Given the description of an element on the screen output the (x, y) to click on. 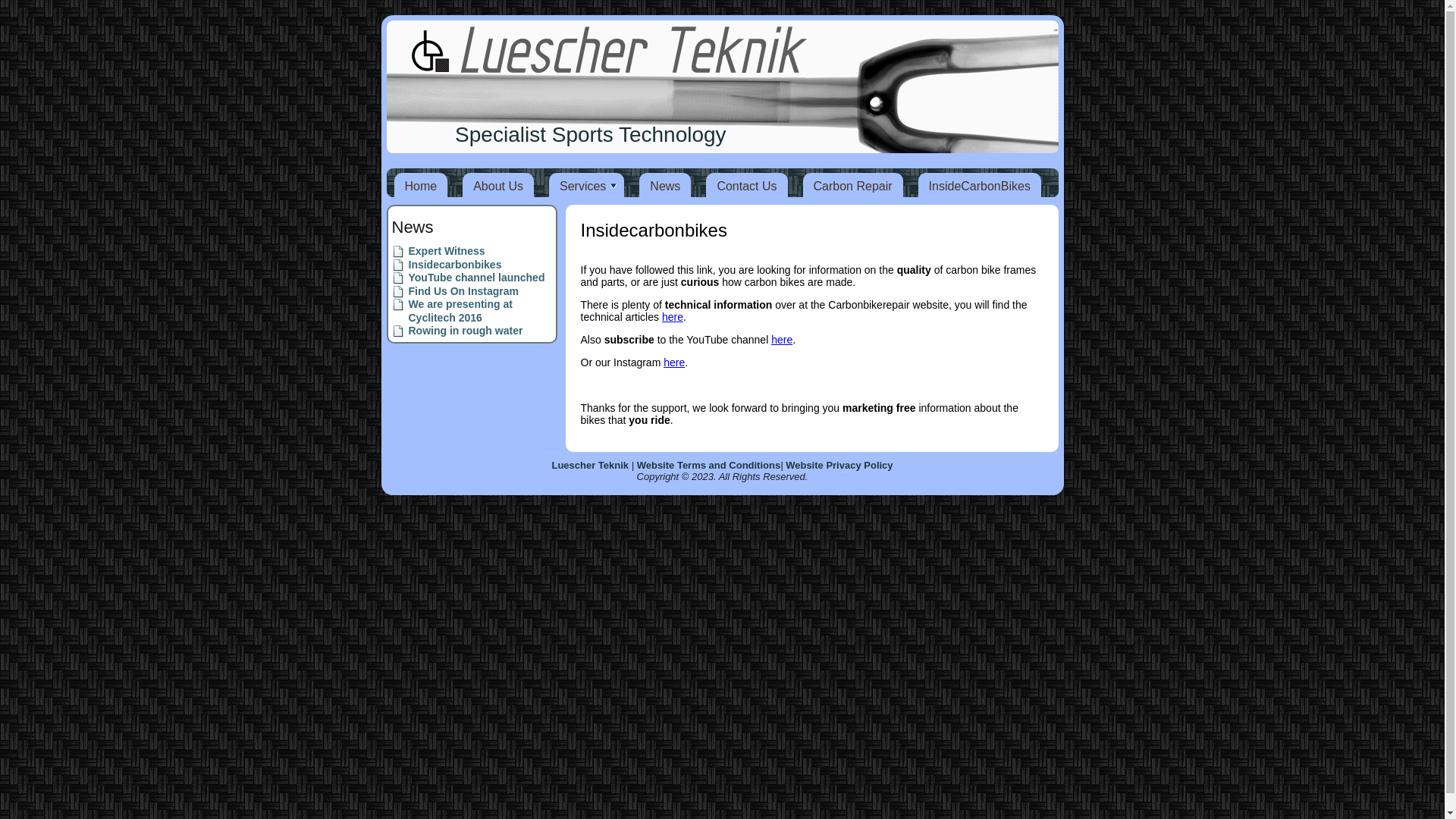
We are presenting at Cyclitech 2016 Element type: text (459, 310)
here Element type: text (673, 362)
Home Element type: text (421, 186)
News Element type: text (664, 186)
InsideCarbonBikes Element type: text (979, 186)
Luescher Teknik Element type: text (589, 464)
Contact Us Element type: text (746, 186)
Expert Witness Element type: text (445, 250)
About Us Element type: text (497, 186)
here Element type: text (781, 339)
Carbon Repair Element type: text (853, 186)
here Element type: text (672, 316)
YouTube channel launched Element type: text (475, 277)
Website Privacy Policy Element type: text (838, 464)
Find Us On Instagram Element type: text (462, 291)
Rowing in rough water Element type: text (464, 330)
Services Element type: text (586, 186)
Insidecarbonbikes Element type: text (454, 263)
Website Terms and Conditions Element type: text (708, 464)
